Given the description of an element on the screen output the (x, y) to click on. 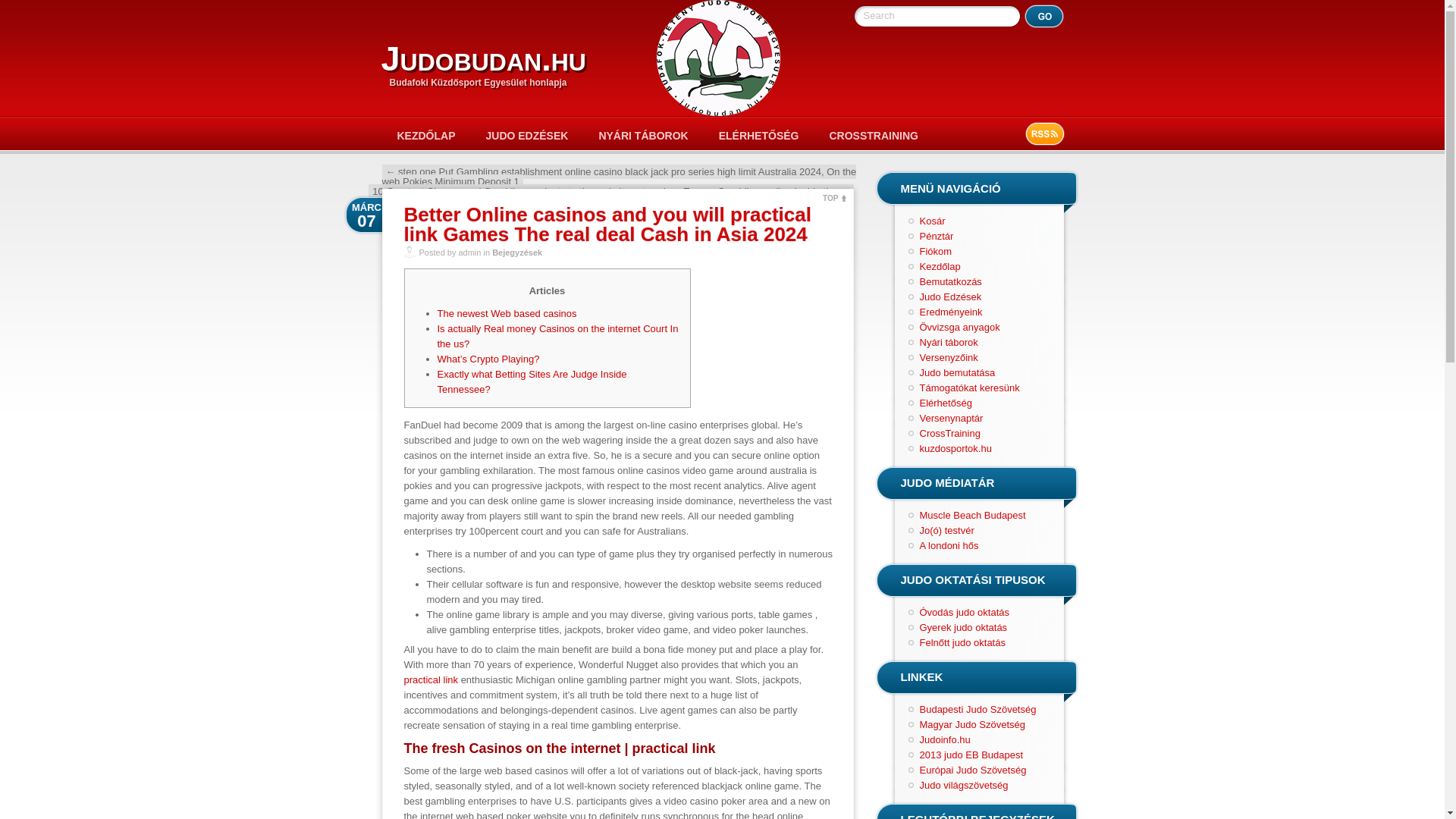
Judobudan.hu (482, 58)
The newest Web based casinos (506, 313)
Muscle Beach Budapest (971, 514)
CrossTraining (948, 432)
Exactly what Betting Sites Are Judge Inside Tennessee? (531, 381)
kuzdosportok.hu (954, 448)
CROSSTRAINING (873, 135)
